Given the description of an element on the screen output the (x, y) to click on. 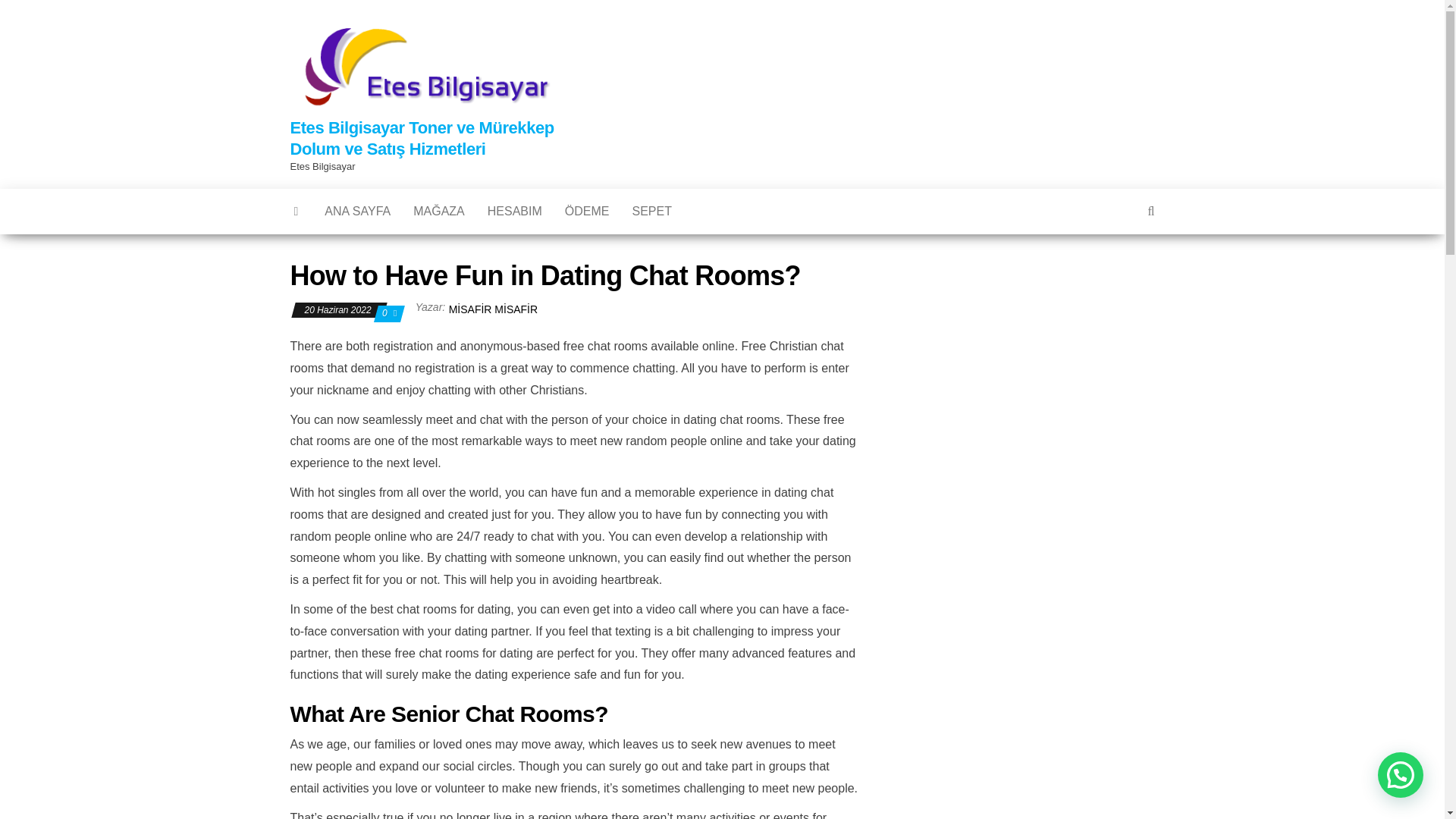
Ana Sayfa (357, 211)
SEPET (651, 211)
ANA SAYFA (357, 211)
HESABIM (514, 211)
MISAFIR MISAFIR (492, 309)
Sepet (651, 211)
